Given the description of an element on the screen output the (x, y) to click on. 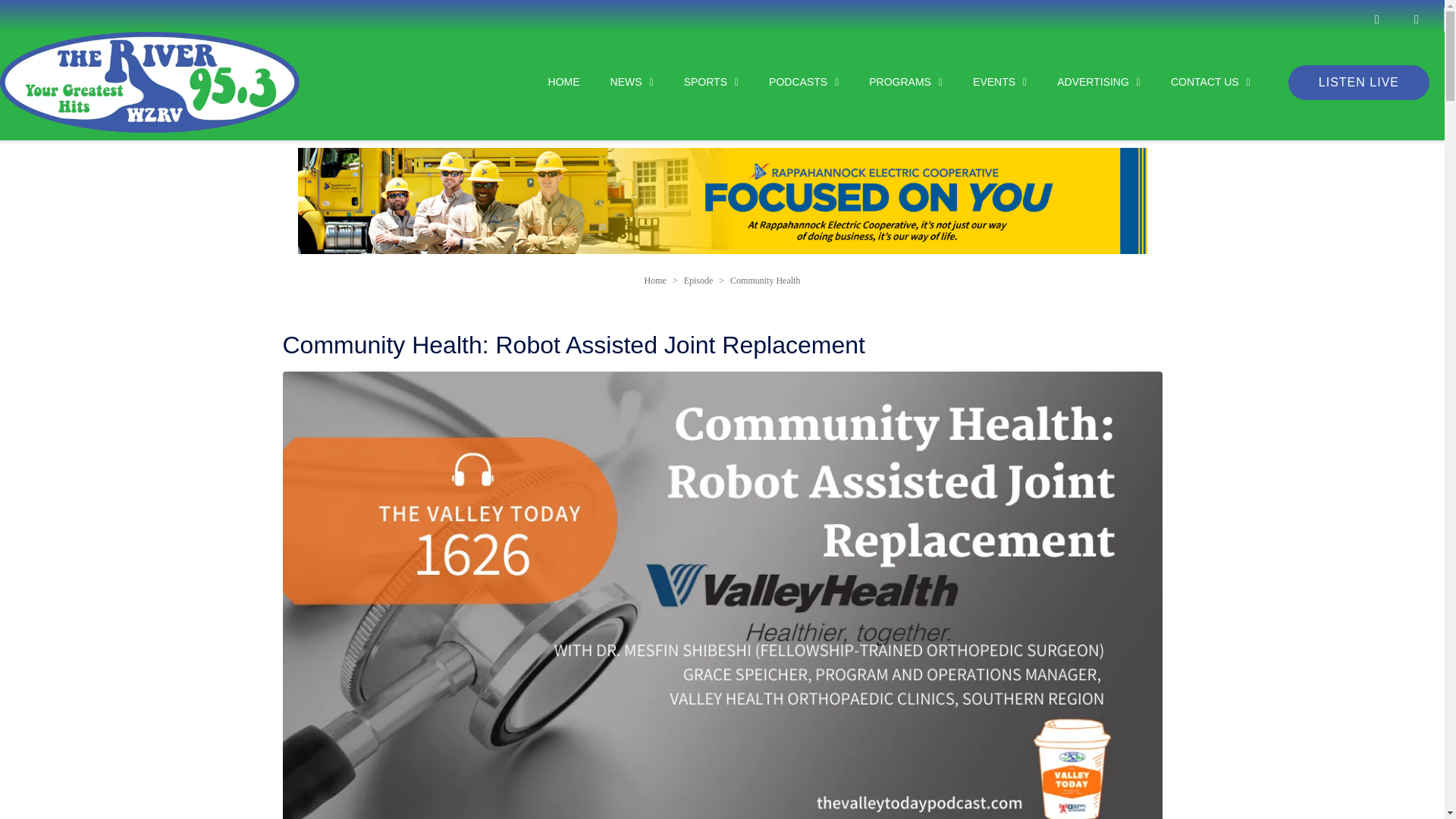
HOME (548, 82)
NEWS (616, 82)
Community Health: Robot Assisted Joint Replacement (721, 603)
PROGRAMS (890, 82)
SPORTS (695, 82)
PODCASTS (788, 82)
Community Health: Robot Assisted Joint Replacement (573, 344)
